Given the description of an element on the screen output the (x, y) to click on. 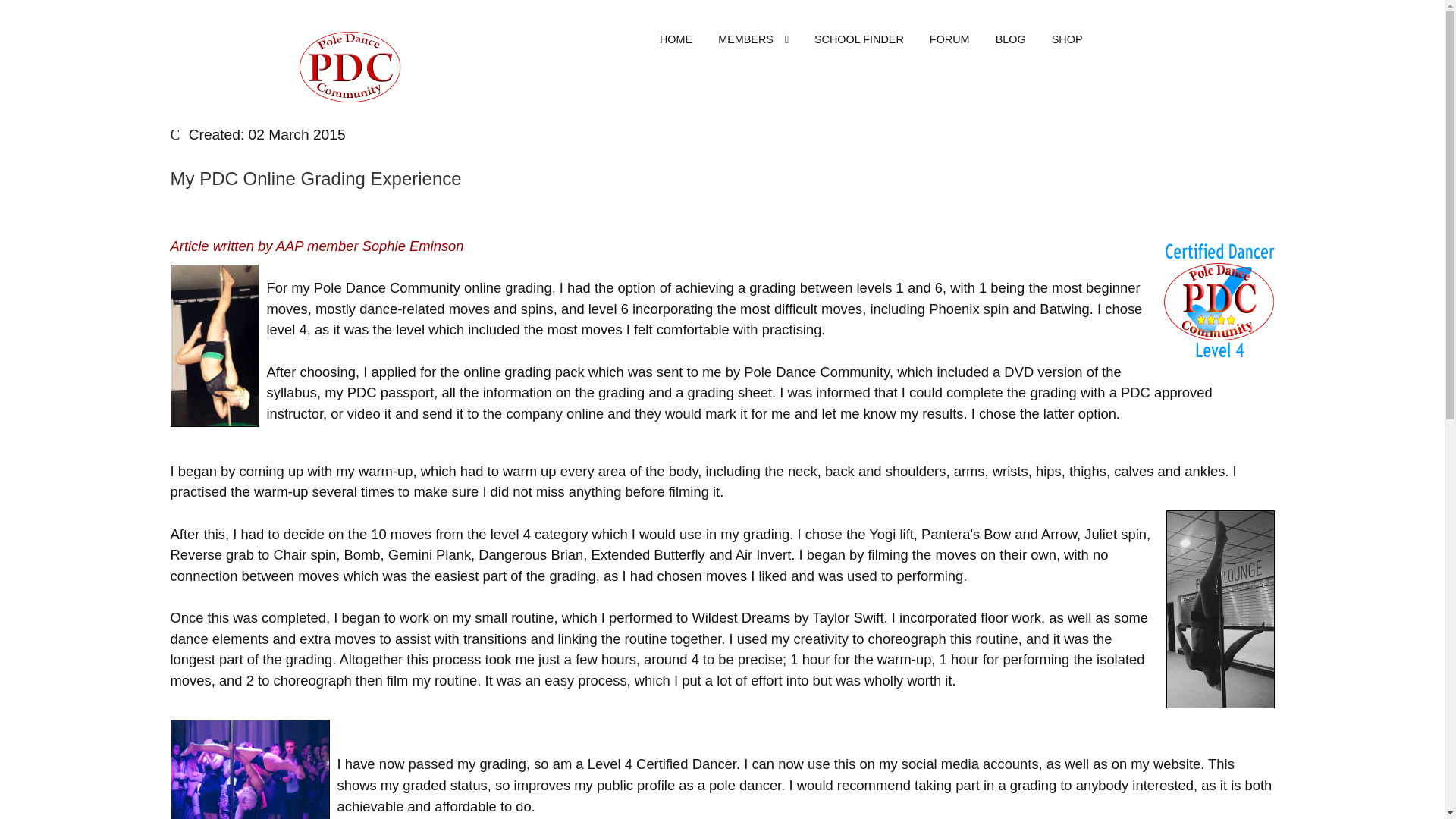
SCHOOL FINDER (858, 39)
FORUM (948, 39)
BLOG (1010, 39)
SHOP (1067, 39)
Sophie Eminson Pole dance grading (249, 769)
Level 4 pole dancer (1218, 300)
PDC (349, 65)
HOME (675, 39)
